Given the description of an element on the screen output the (x, y) to click on. 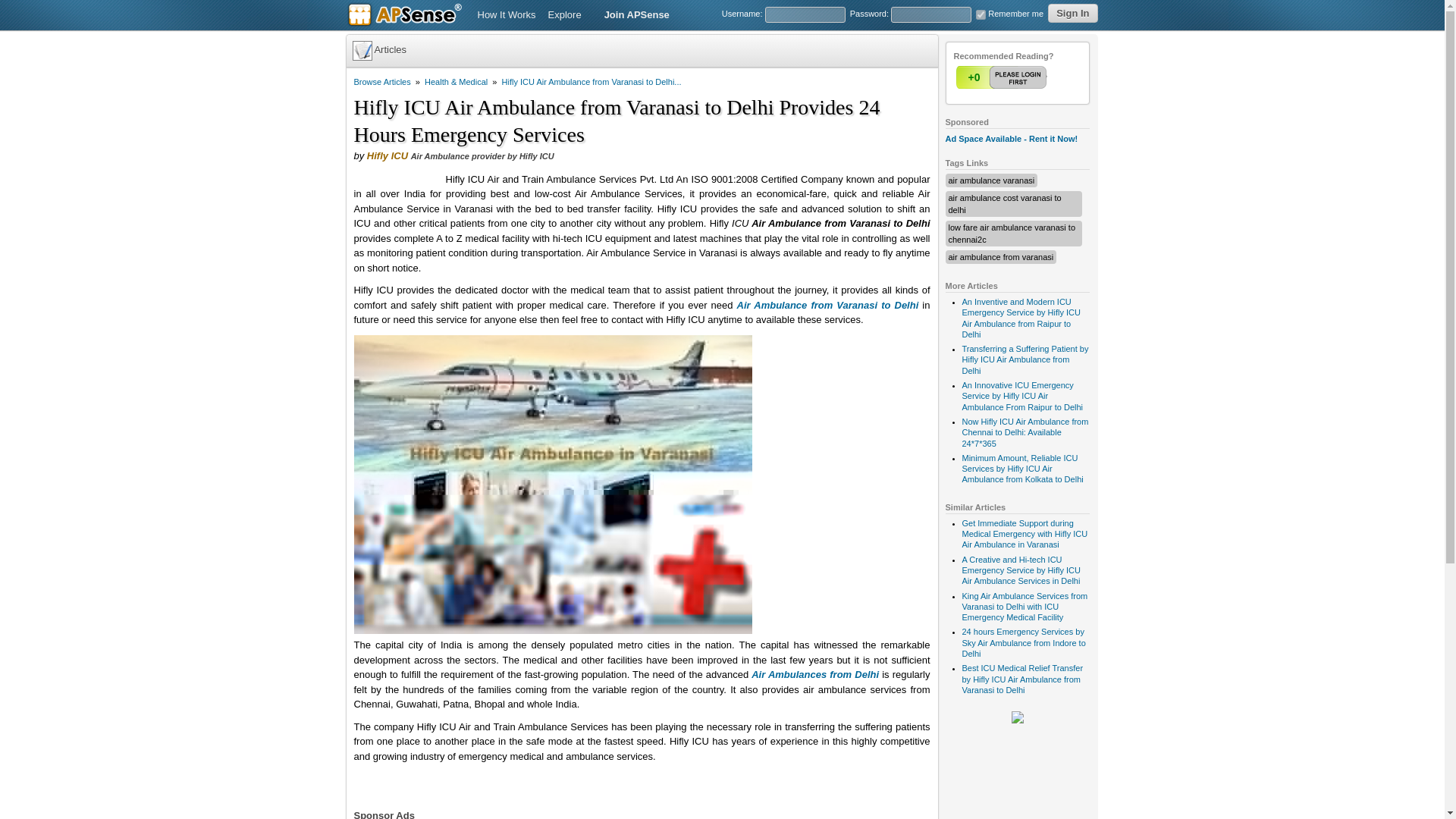
Hifly ICU (386, 155)
Vote Up (1002, 77)
Explore (569, 15)
Air Ambulance from Varanasi to Delhi (827, 305)
1 (980, 14)
Ad Space Available - Rent it Now! (1010, 138)
air ambulance cost varanasi to delhi (1004, 203)
